Given the description of an element on the screen output the (x, y) to click on. 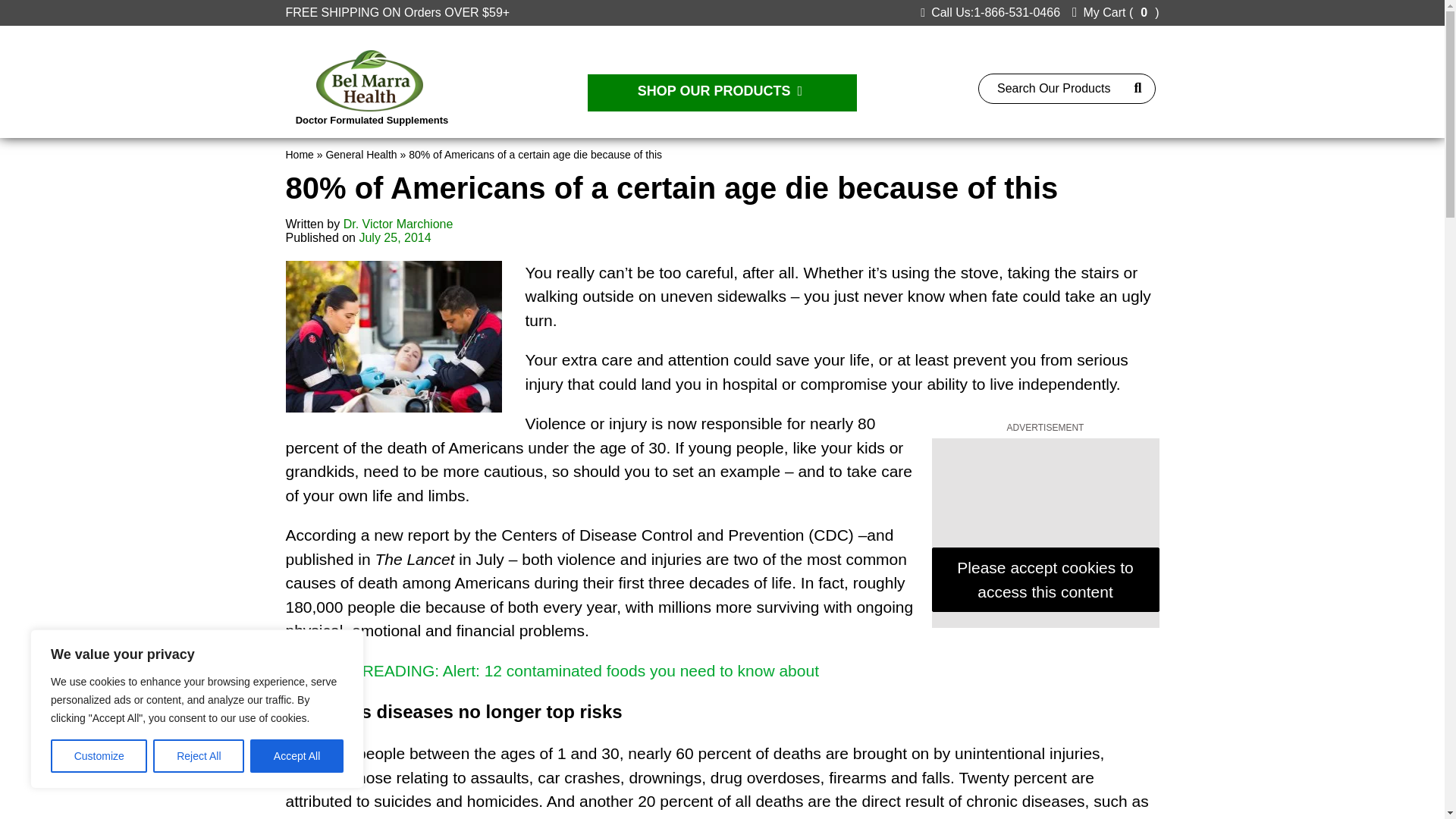
Customize (98, 756)
Skip to the content (50, 6)
Call Us:1-866-531-0466 (989, 11)
Reject All (198, 756)
alert: 12 contaminated foods you need to know about (551, 670)
Accept All (296, 756)
Posts by Dr. Victor Marchione (397, 223)
